Given the description of an element on the screen output the (x, y) to click on. 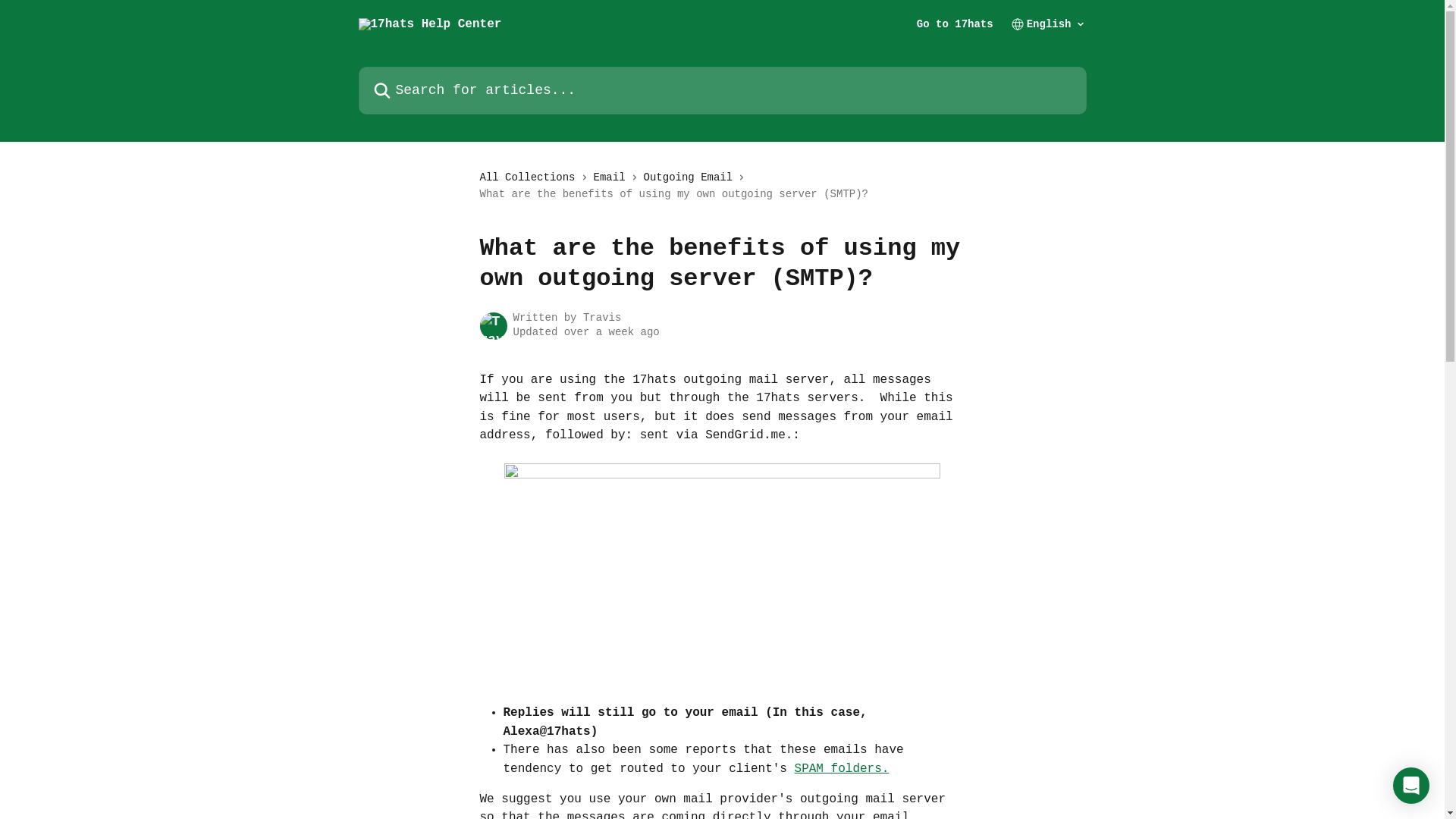
Outgoing Email Element type: text (691, 177)
Go to 17hats Element type: text (954, 23)
Email Element type: text (612, 177)
SPAM folders. Element type: text (841, 768)
All Collections Element type: text (529, 177)
